Given the description of an element on the screen output the (x, y) to click on. 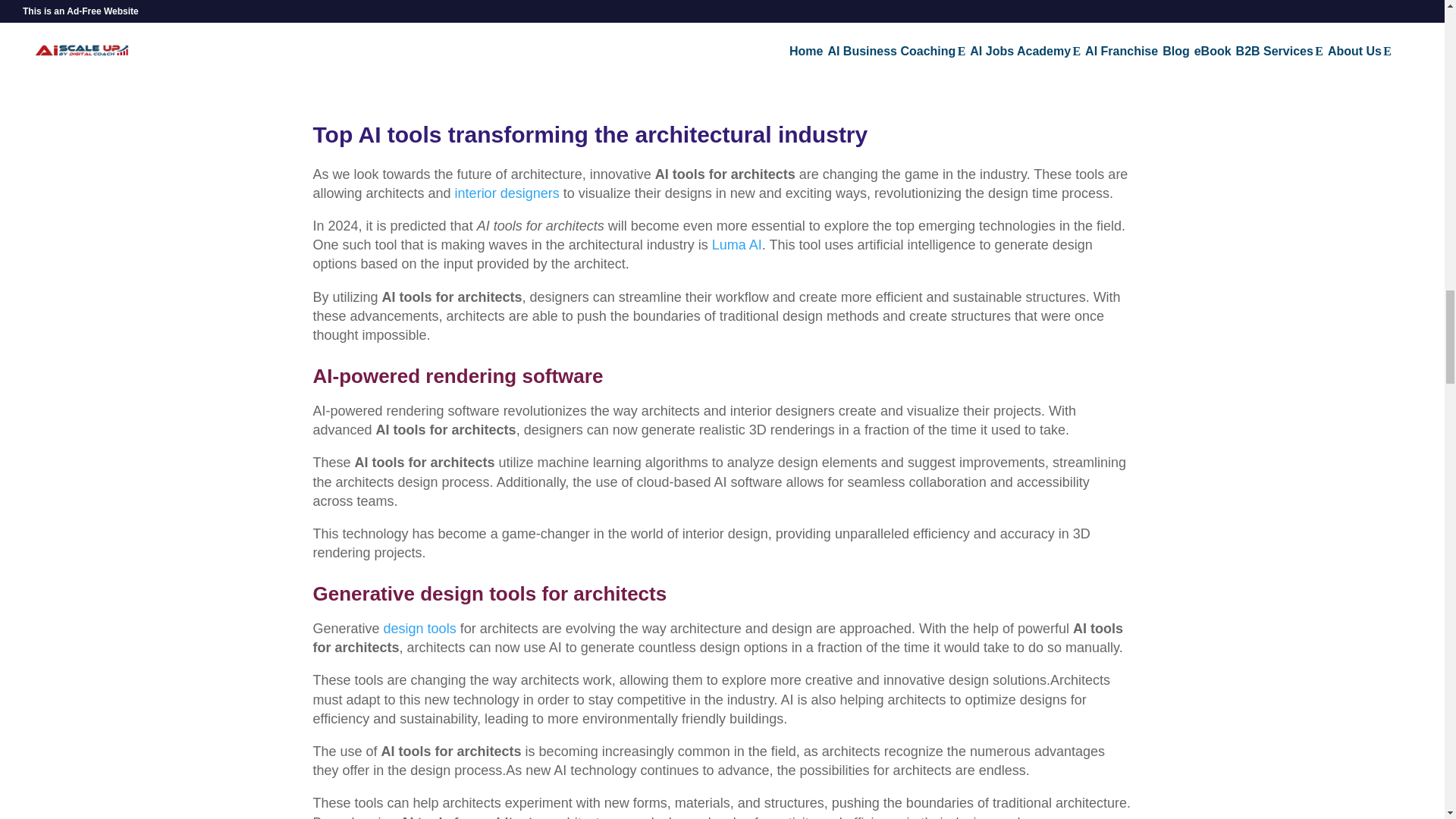
Luma AI (736, 244)
design tools (420, 628)
interior designers (506, 192)
